Given the description of an element on the screen output the (x, y) to click on. 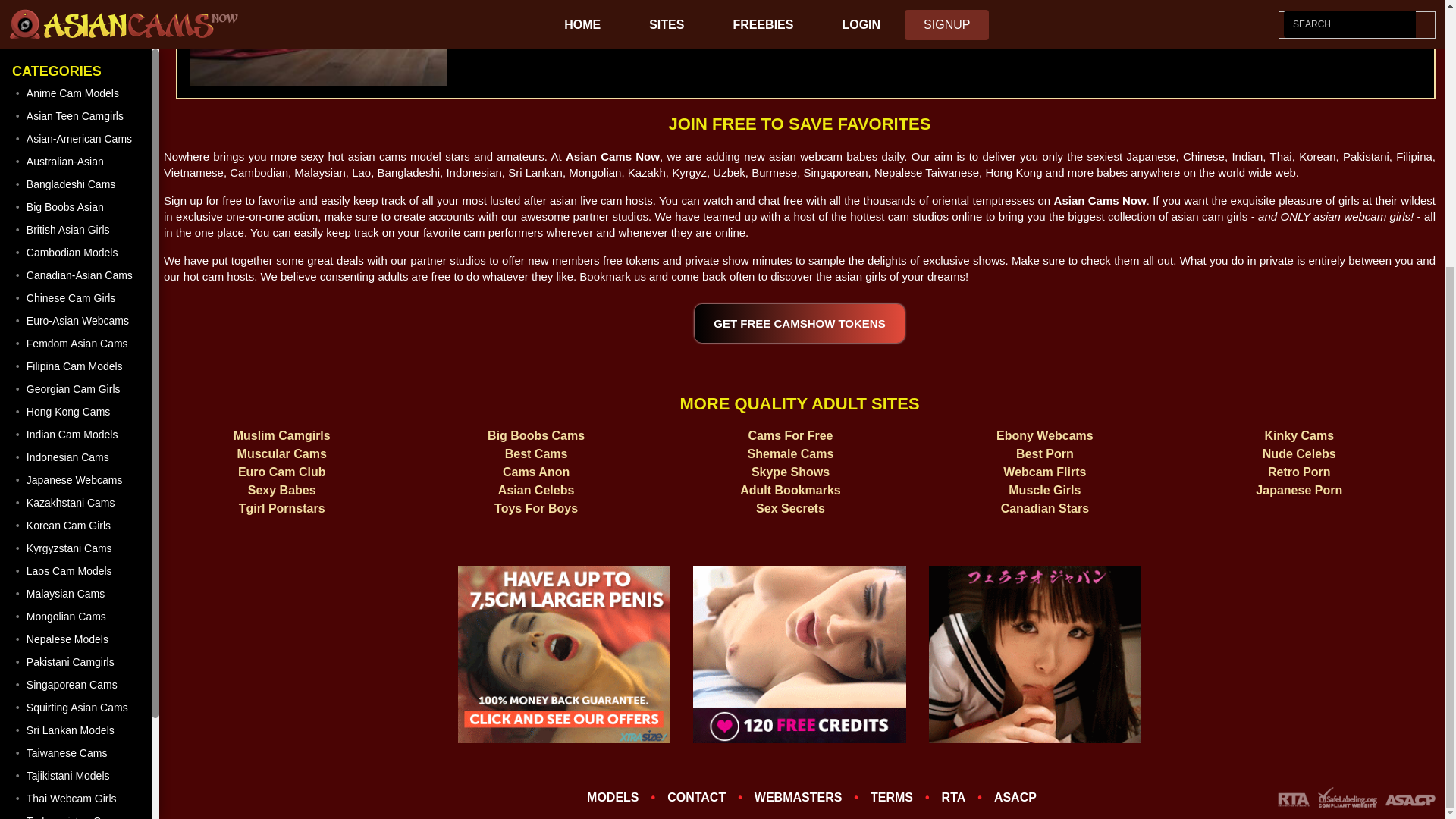
Sri Lankan Models (77, 342)
Indonesian Cams (77, 69)
Japanese Cam Girls On Asian Cams Now (77, 92)
Kyrgyzstani Cams (77, 160)
Malaysian Cams (77, 205)
Japanese Webcams (77, 92)
Nepalese Models (77, 251)
Laos Cam Models (77, 182)
Korean Cam Girls On Asian Cams Now (77, 137)
Kazakhstani Cam Girls On Asian Cams Now (77, 115)
